Given the description of an element on the screen output the (x, y) to click on. 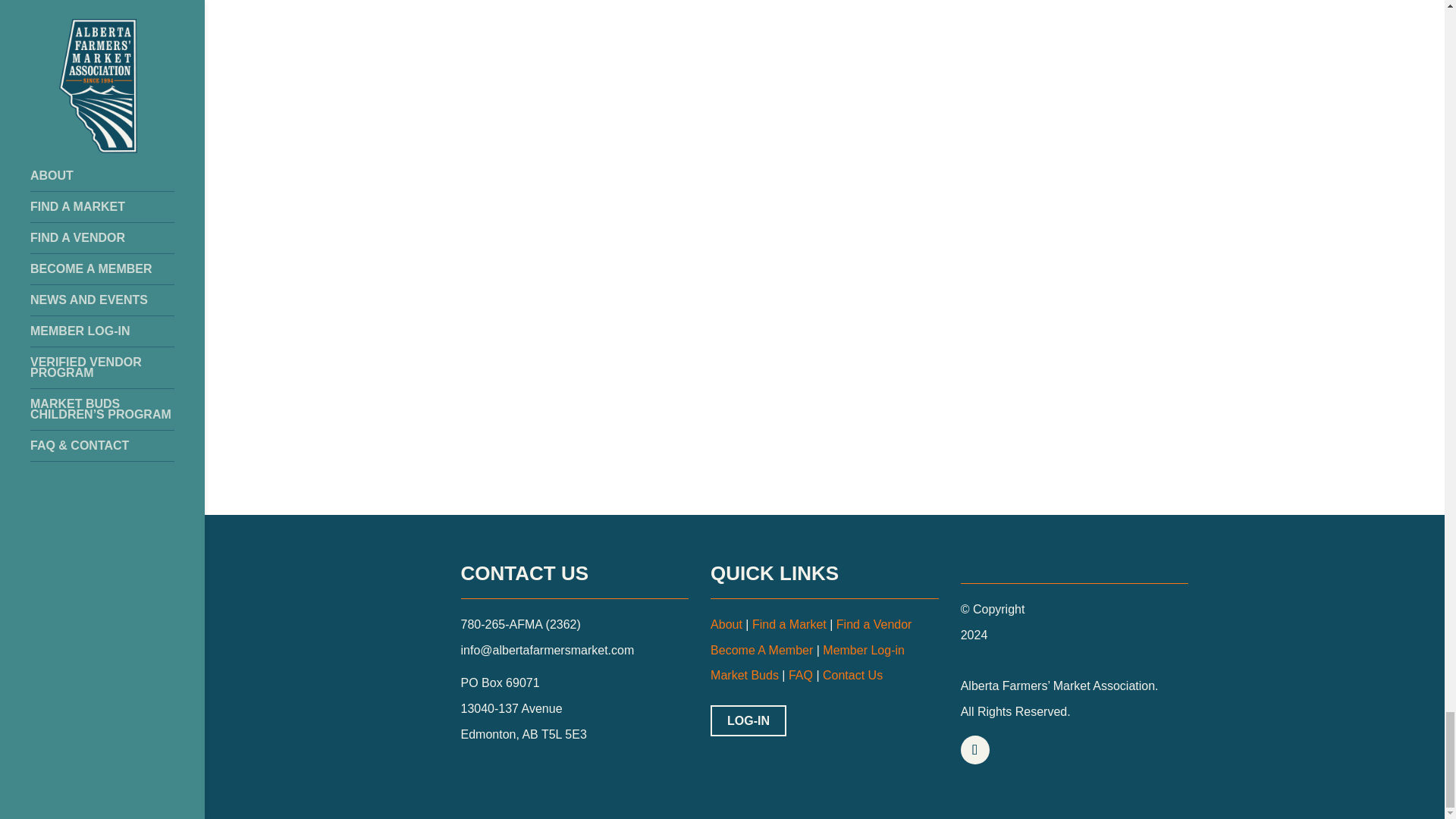
Find a Market (789, 624)
Follow on Facebook (975, 749)
Find a Vendor (873, 624)
Member Log-in (863, 649)
FAQ (799, 675)
About (726, 624)
Contact Us (852, 675)
Become A Member (761, 649)
LOG-IN (748, 720)
Market Buds (744, 675)
